Given the description of an element on the screen output the (x, y) to click on. 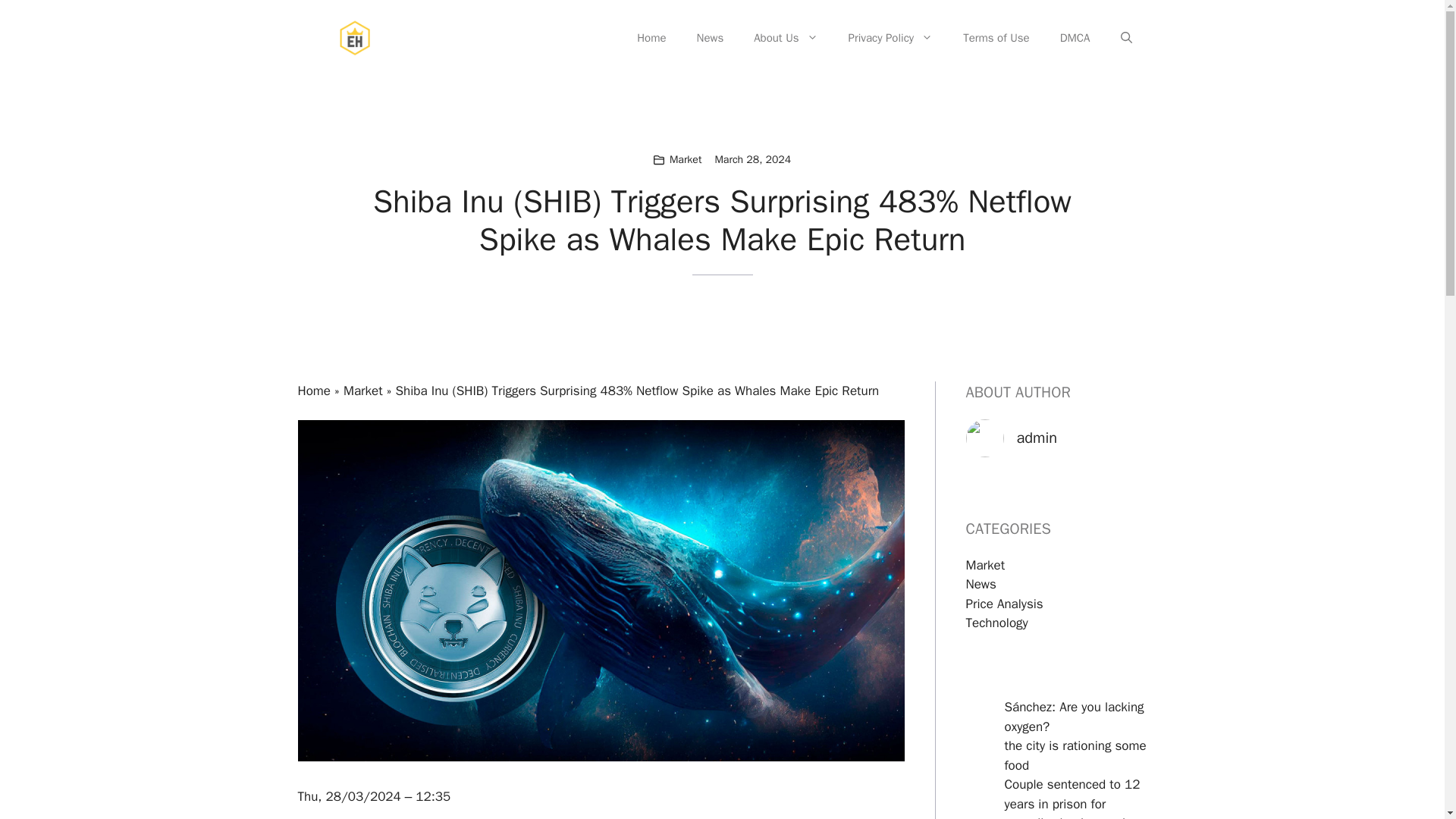
Price Analysis (1004, 603)
Home (313, 390)
Technology (996, 622)
Market (362, 390)
Market (986, 565)
the city is rationing some food (1074, 755)
Terms of Use (996, 37)
Market (685, 159)
DMCA (1075, 37)
News (710, 37)
News (980, 584)
Home (651, 37)
admin (1036, 437)
Privacy Policy (890, 37)
About Us (785, 37)
